Given the description of an element on the screen output the (x, y) to click on. 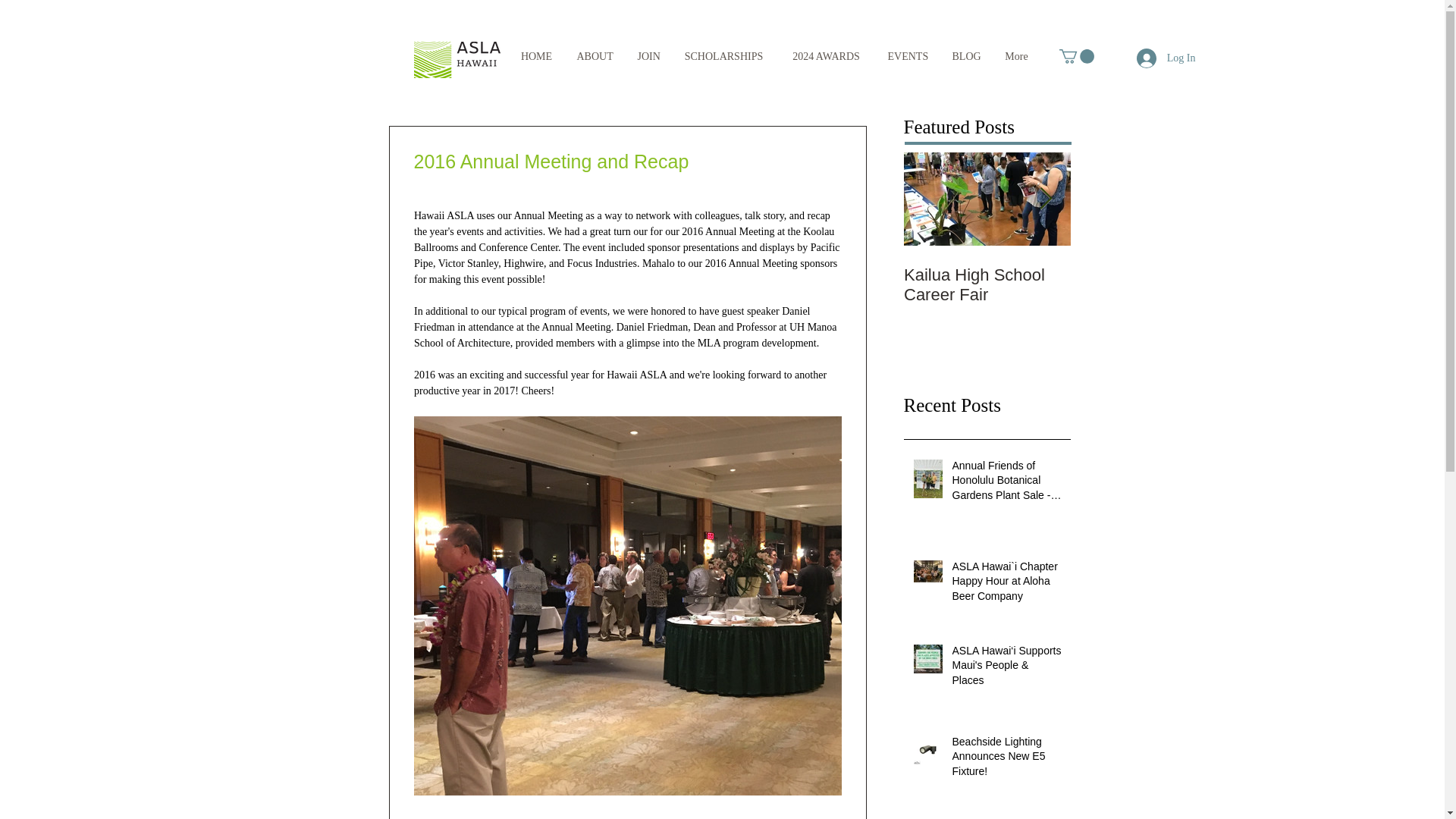
Kailua High School Career Fair (987, 284)
Log In (1166, 58)
SCHOLARSHIPS (722, 56)
Beachside Lighting Announces New E5 Fixture! (1006, 758)
EVENTS (907, 56)
BLOG (966, 56)
2024 AWARDS (825, 56)
LARE TalkStory (1153, 275)
JOIN (646, 56)
